Given the description of an element on the screen output the (x, y) to click on. 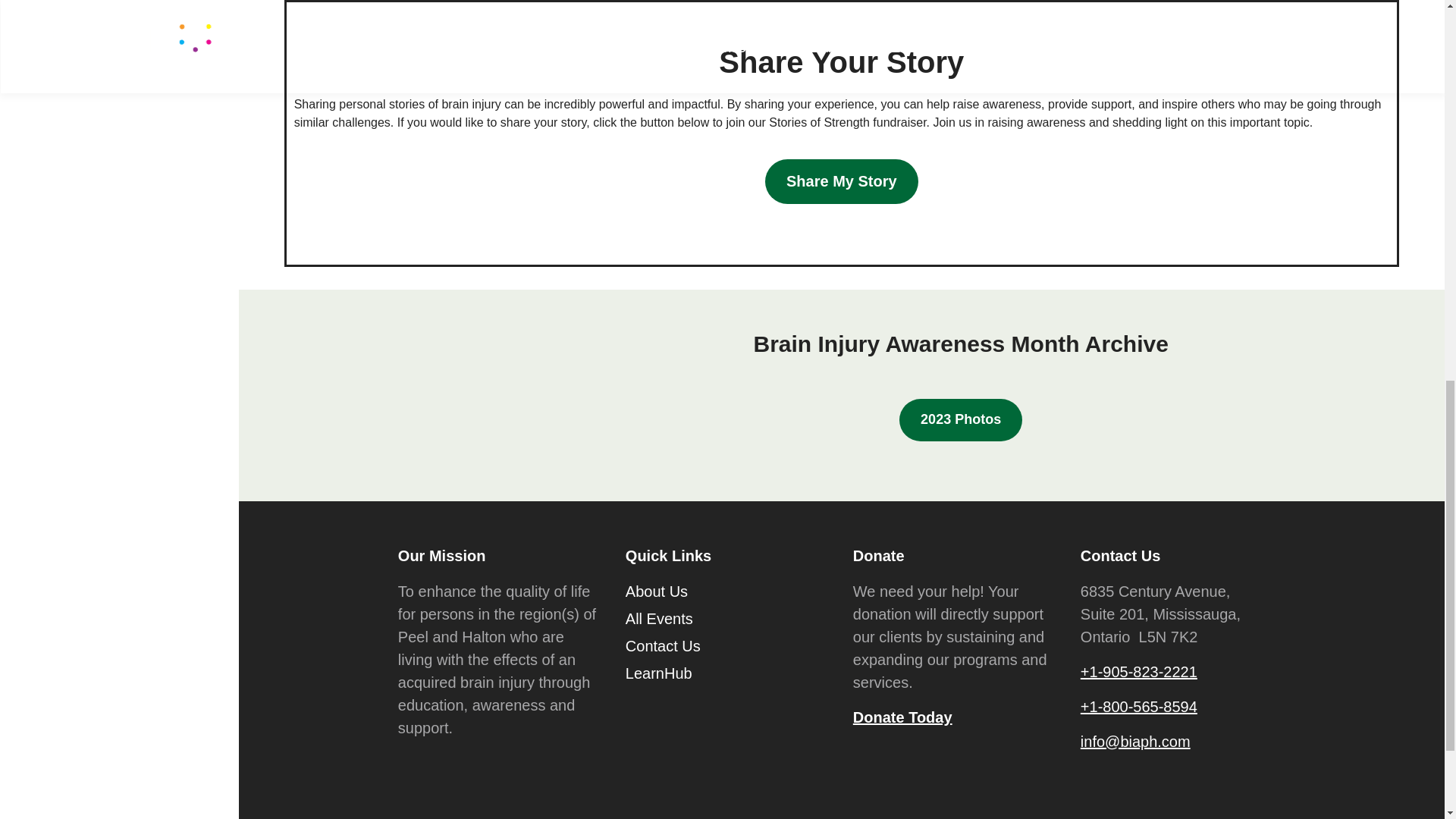
About Us (656, 594)
Share My Story (841, 180)
2023 Photos (960, 419)
